Given the description of an element on the screen output the (x, y) to click on. 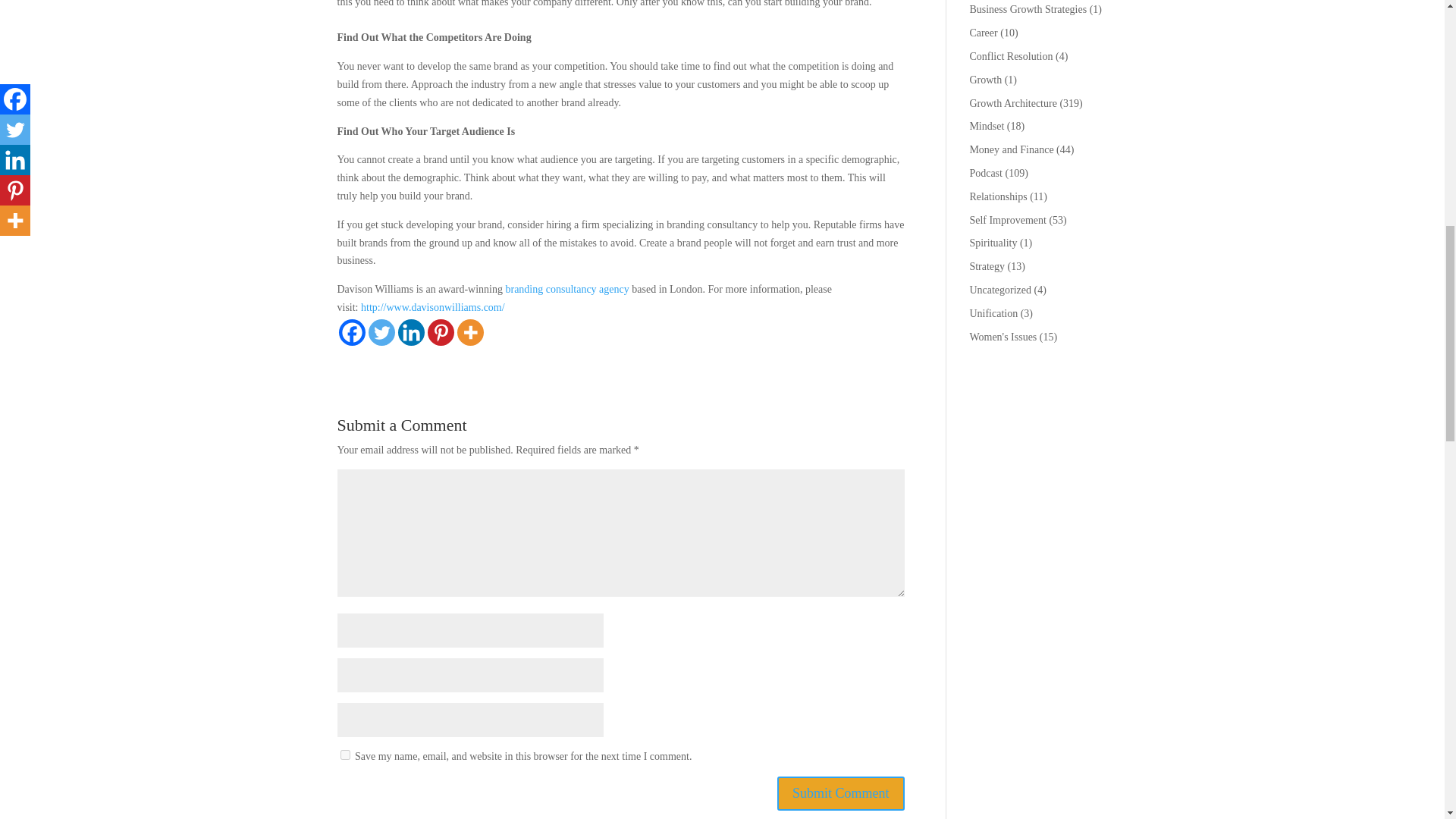
Pinterest (441, 332)
Submit Comment (840, 793)
yes (344, 755)
Twitter (381, 332)
Facebook (351, 332)
Linkedin (410, 332)
More (470, 332)
